Given the description of an element on the screen output the (x, y) to click on. 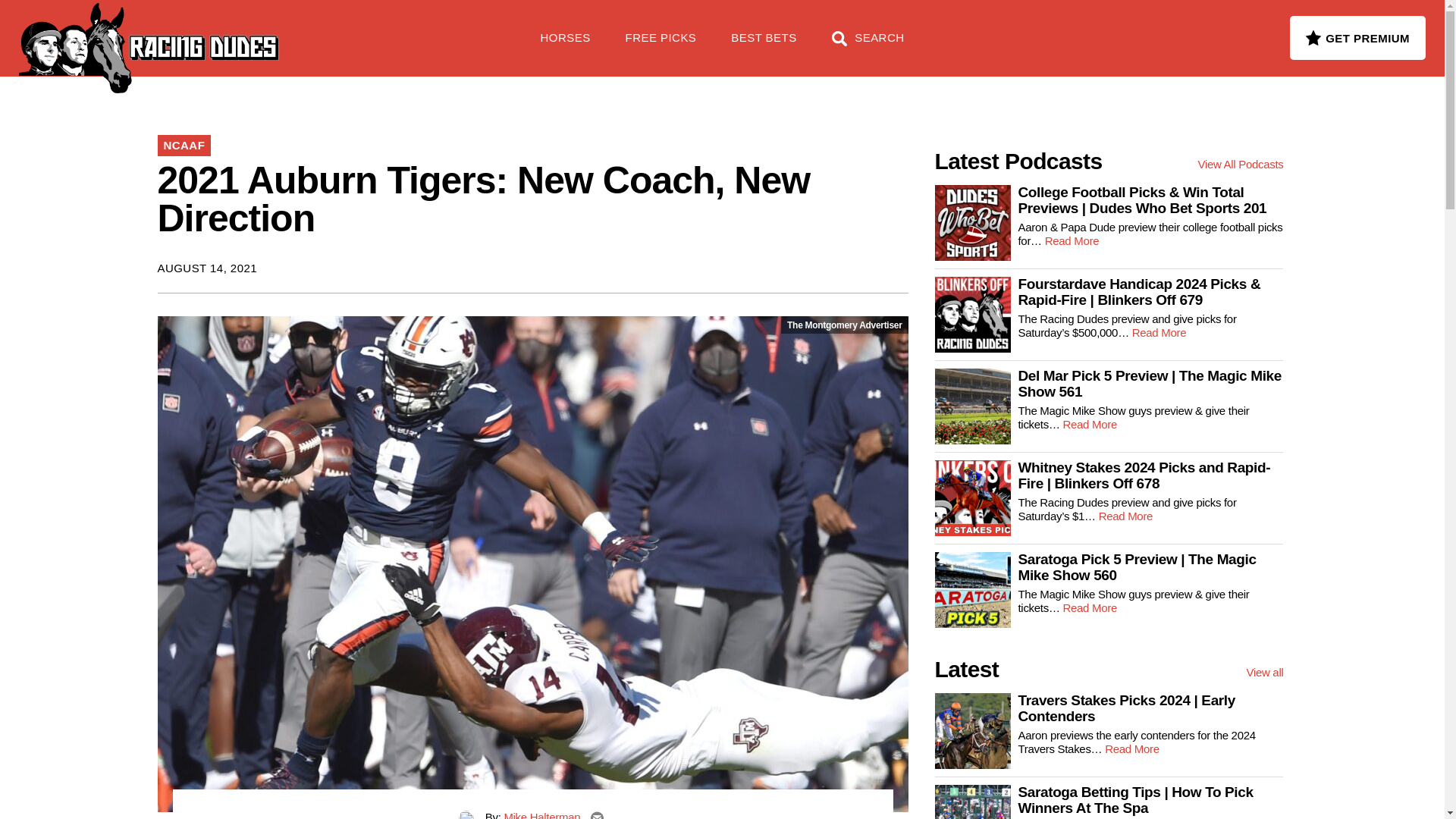
GET PREMIUM (1357, 37)
HORSES (565, 45)
 SEARCH (867, 45)
BEST BETS (763, 45)
Posts by Mike Halterman (541, 814)
FREE PICKS (245, 29)
FREE PICKS (661, 45)
PODCASTS (354, 29)
